Given the description of an element on the screen output the (x, y) to click on. 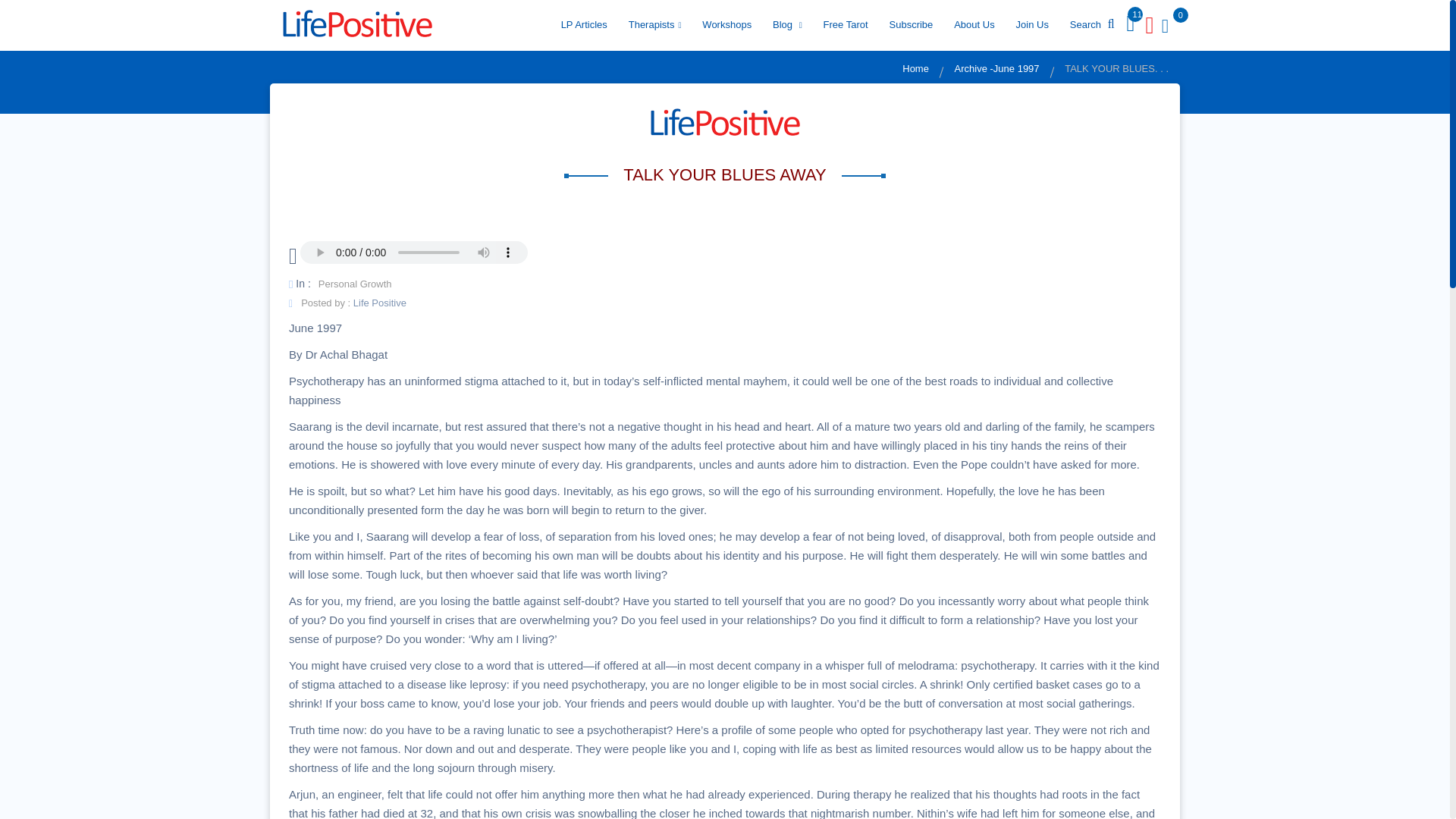
About Us (973, 24)
Search (1092, 24)
Workshops (726, 24)
Subscribe (910, 24)
LP Articles (583, 24)
Free Tarot (845, 24)
Join Us (1032, 24)
Blog (786, 24)
Therapists (655, 24)
